Given the description of an element on the screen output the (x, y) to click on. 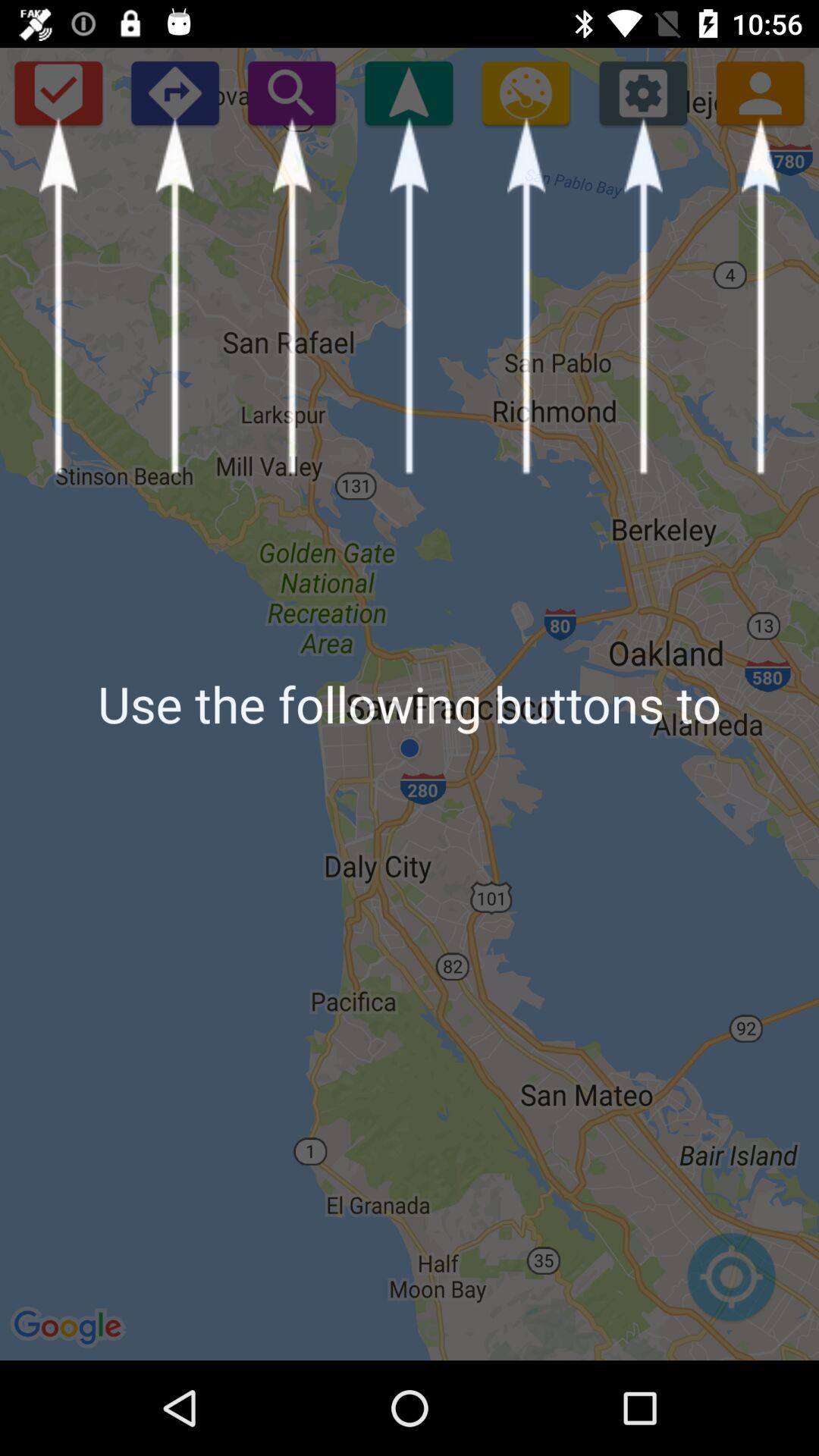
search button (291, 92)
